Given the description of an element on the screen output the (x, y) to click on. 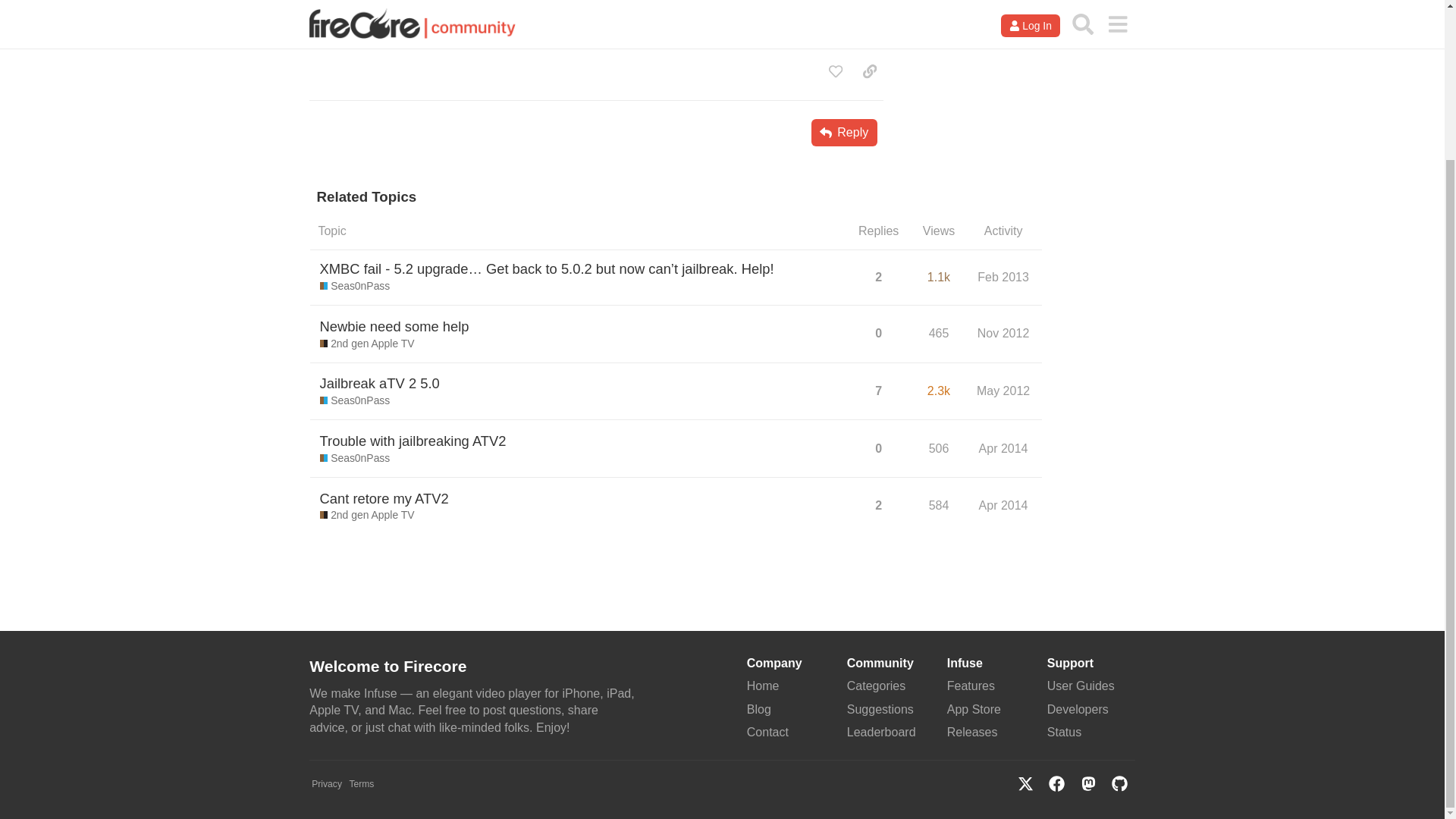
May 2012 (1002, 390)
Newbie need some help (394, 326)
Seas0nPass (355, 458)
2nd gen Apple TV (367, 515)
Reply (843, 132)
Discuss jailbreak issues (355, 286)
Blog (758, 708)
Discuss jailbreak issues (355, 400)
this topic has been viewed 1120 times (938, 277)
copy a link to this post to clipboard (869, 71)
Cant retore my ATV2 (384, 498)
2nd gen Apple TV (367, 344)
Seas0nPass (355, 400)
Apr 2014 (1003, 448)
Contact (767, 731)
